Given the description of an element on the screen output the (x, y) to click on. 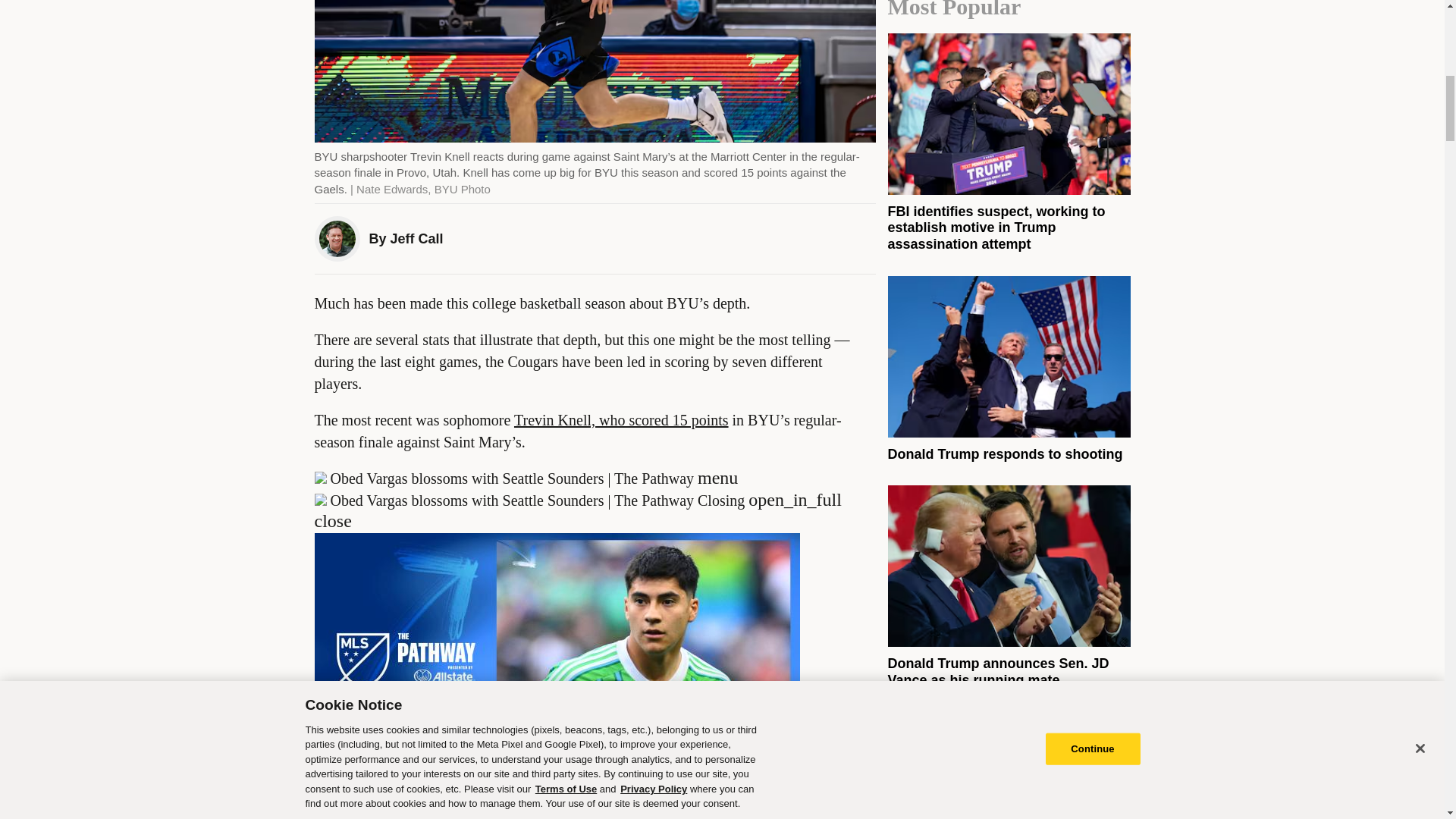
Jeff Call (417, 238)
Trevin Knell, who scored 15 points (621, 419)
